Given the description of an element on the screen output the (x, y) to click on. 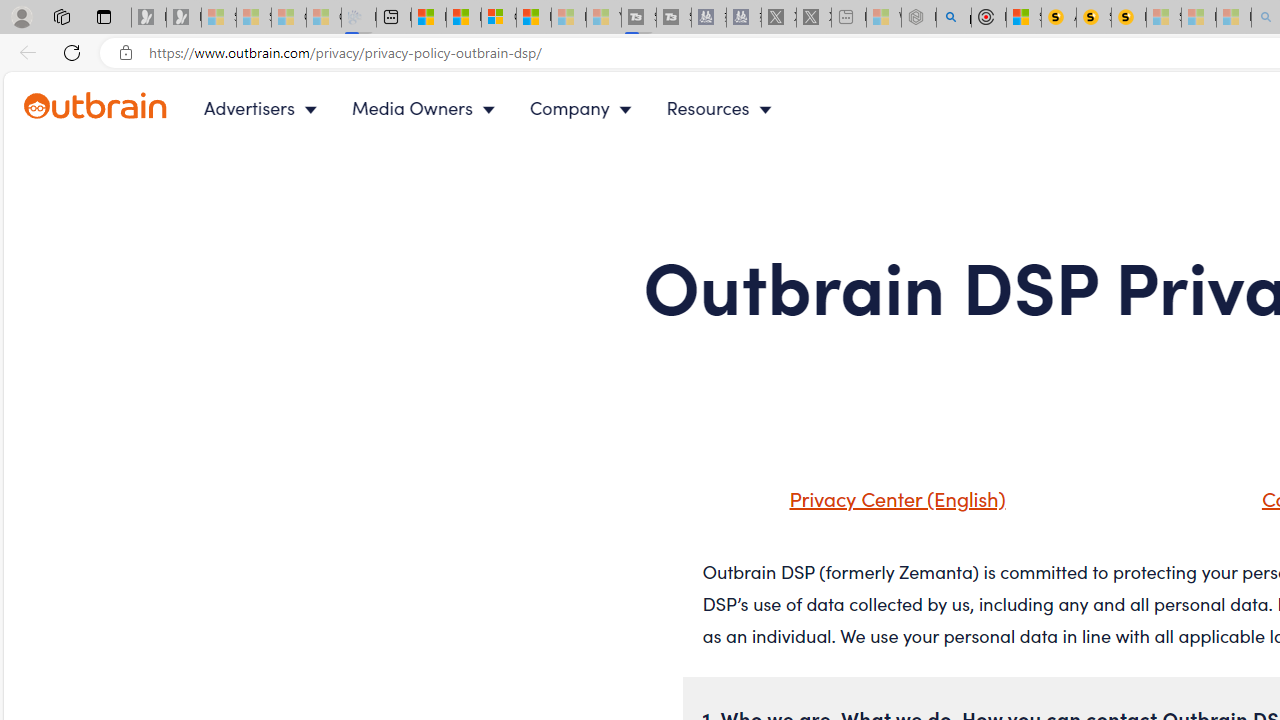
Privacy Center (English) (892, 497)
Microsoft Start - Sleeping (568, 17)
poe - Search (954, 17)
Media Owners (427, 107)
Wildlife - MSN - Sleeping (883, 17)
Nordace - Summer Adventures 2024 - Sleeping (918, 17)
Main Navigation (504, 107)
